Given the description of an element on the screen output the (x, y) to click on. 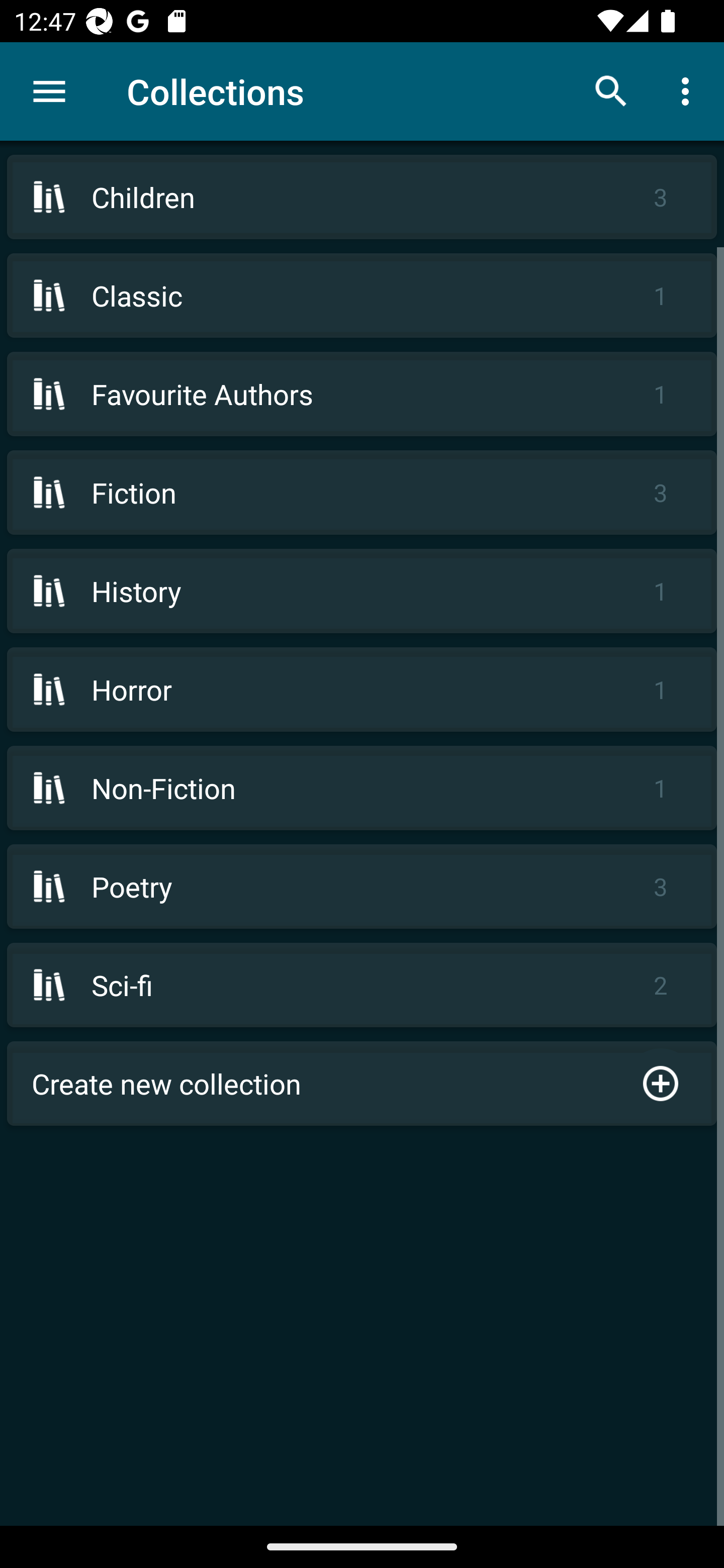
Menu (49, 91)
Search books & documents (611, 90)
More options (688, 90)
Children 3 (361, 197)
Classic 1 (361, 295)
Favourite Authors 1 (361, 393)
Fiction 3 (361, 492)
History 1 (361, 590)
Horror 1 (361, 689)
Non-Fiction 1 (361, 787)
Poetry 3 (361, 885)
Sci-fi 2 (361, 984)
Create new collection (361, 1083)
